Given the description of an element on the screen output the (x, y) to click on. 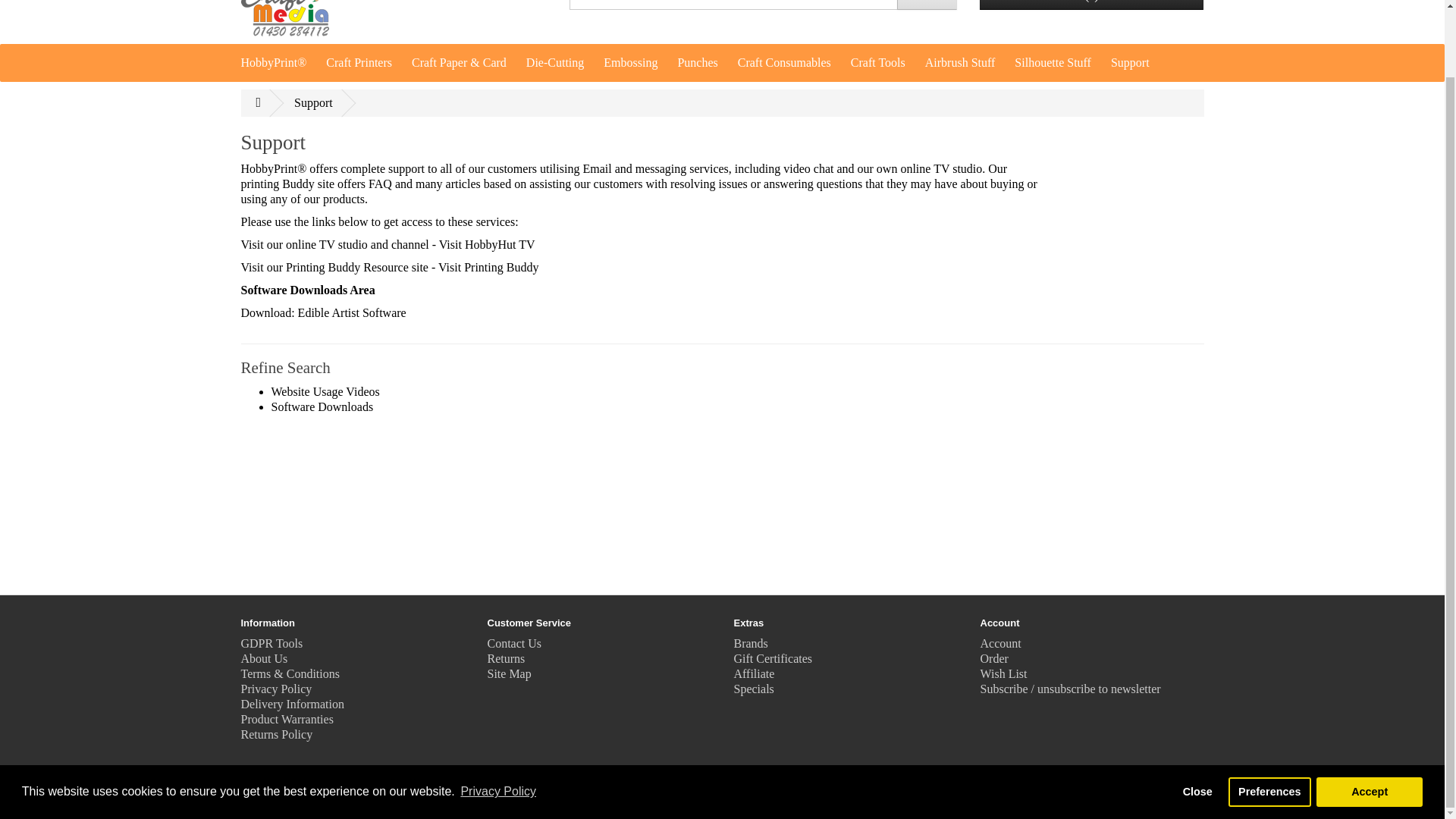
Privacy Policy (498, 716)
craftmedia.uk (285, 18)
Preferences (1269, 716)
Accept (1369, 716)
Craft Printers (360, 62)
Die-Cutting (556, 62)
Close (1197, 716)
